Given the description of an element on the screen output the (x, y) to click on. 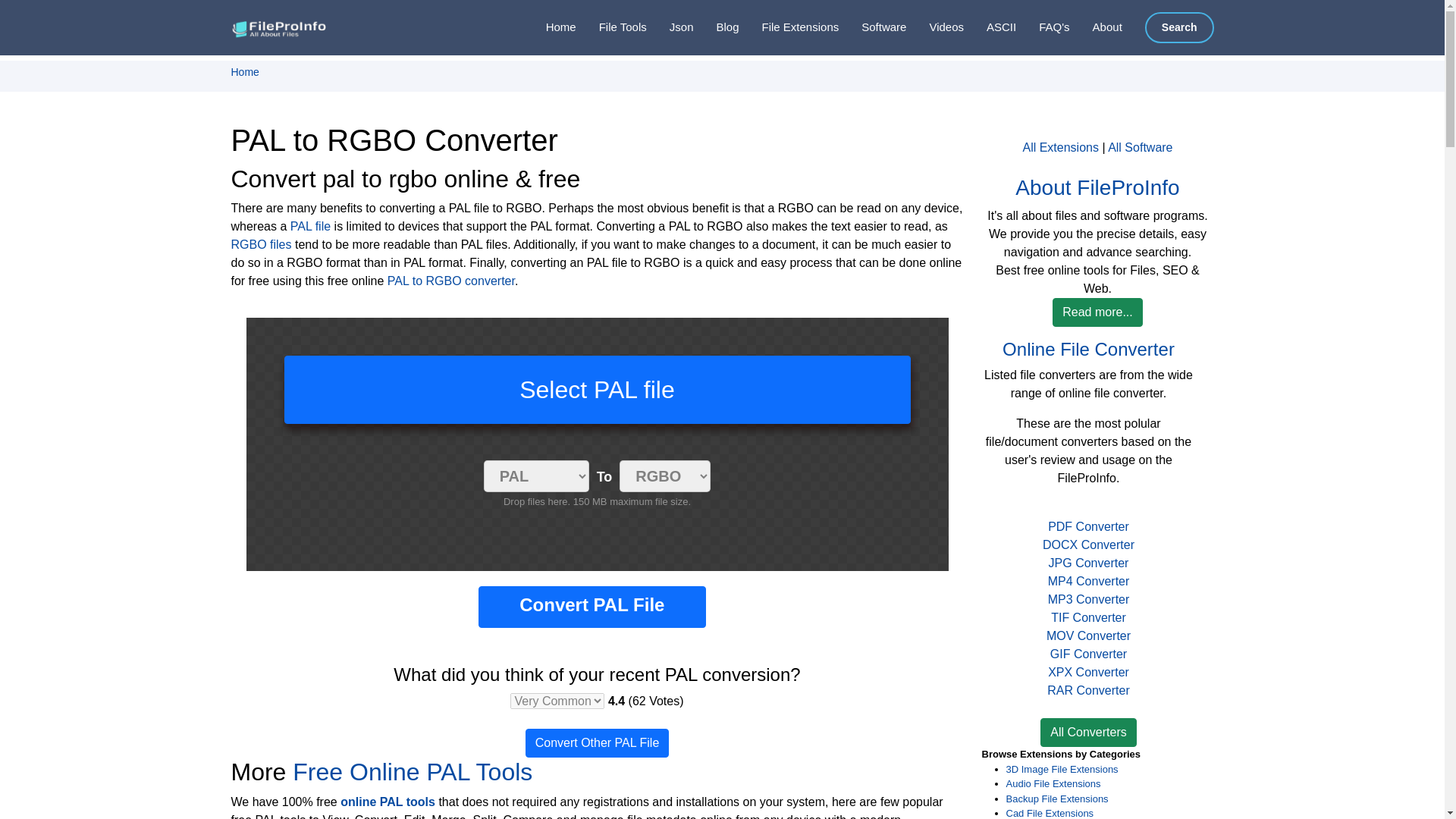
Home (549, 27)
File Extensions (789, 27)
About (1096, 27)
FAQ's (1042, 27)
ASCII (989, 27)
free online pal tools (412, 771)
Convert Other PAL File (597, 742)
ASCII table (989, 27)
Search (1179, 27)
FAQ's (1042, 27)
File Tools (611, 27)
Home (244, 71)
Videos (934, 27)
About (1096, 27)
File extensions list (789, 27)
